Given the description of an element on the screen output the (x, y) to click on. 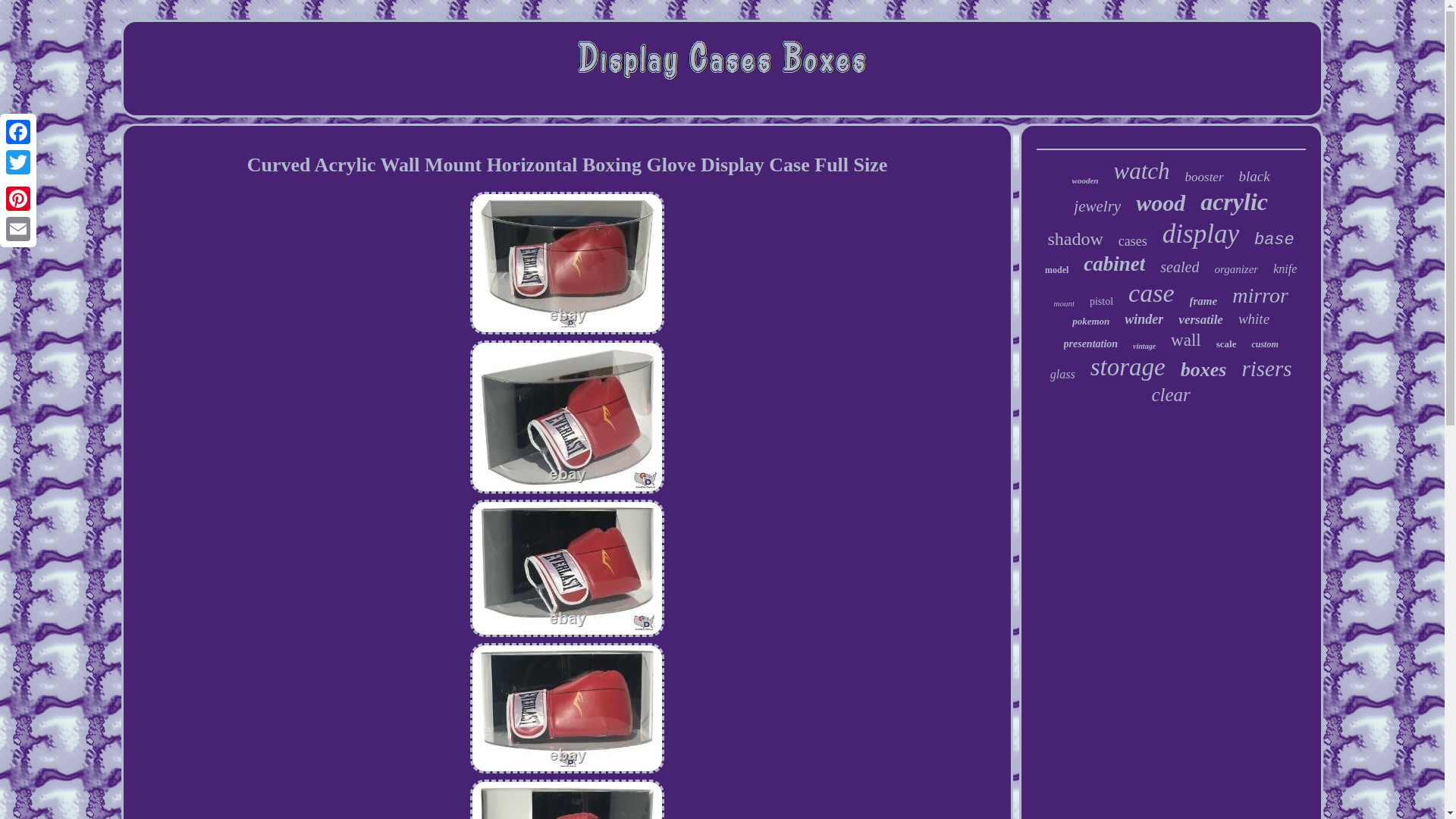
booster (1204, 177)
mount (1063, 302)
frame (1203, 300)
mirror (1259, 295)
wood (1160, 203)
Pinterest (17, 198)
white (1254, 319)
pokemon (1090, 321)
knife (1284, 269)
